Given the description of an element on the screen output the (x, y) to click on. 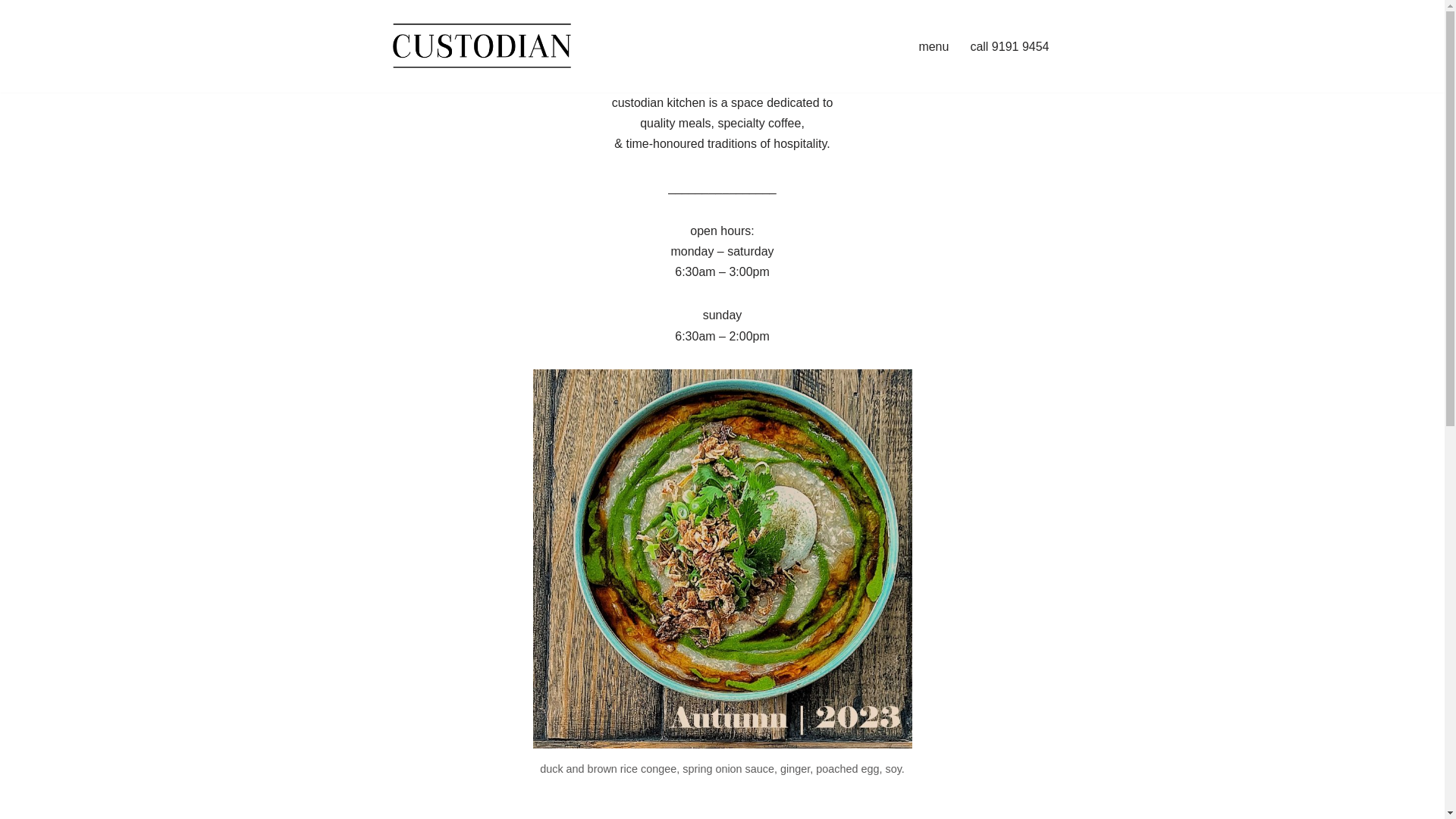
call 9191 9454 Element type: text (1008, 46)
menu Element type: text (933, 46)
Skip to content Element type: text (11, 31)
